Given the description of an element on the screen output the (x, y) to click on. 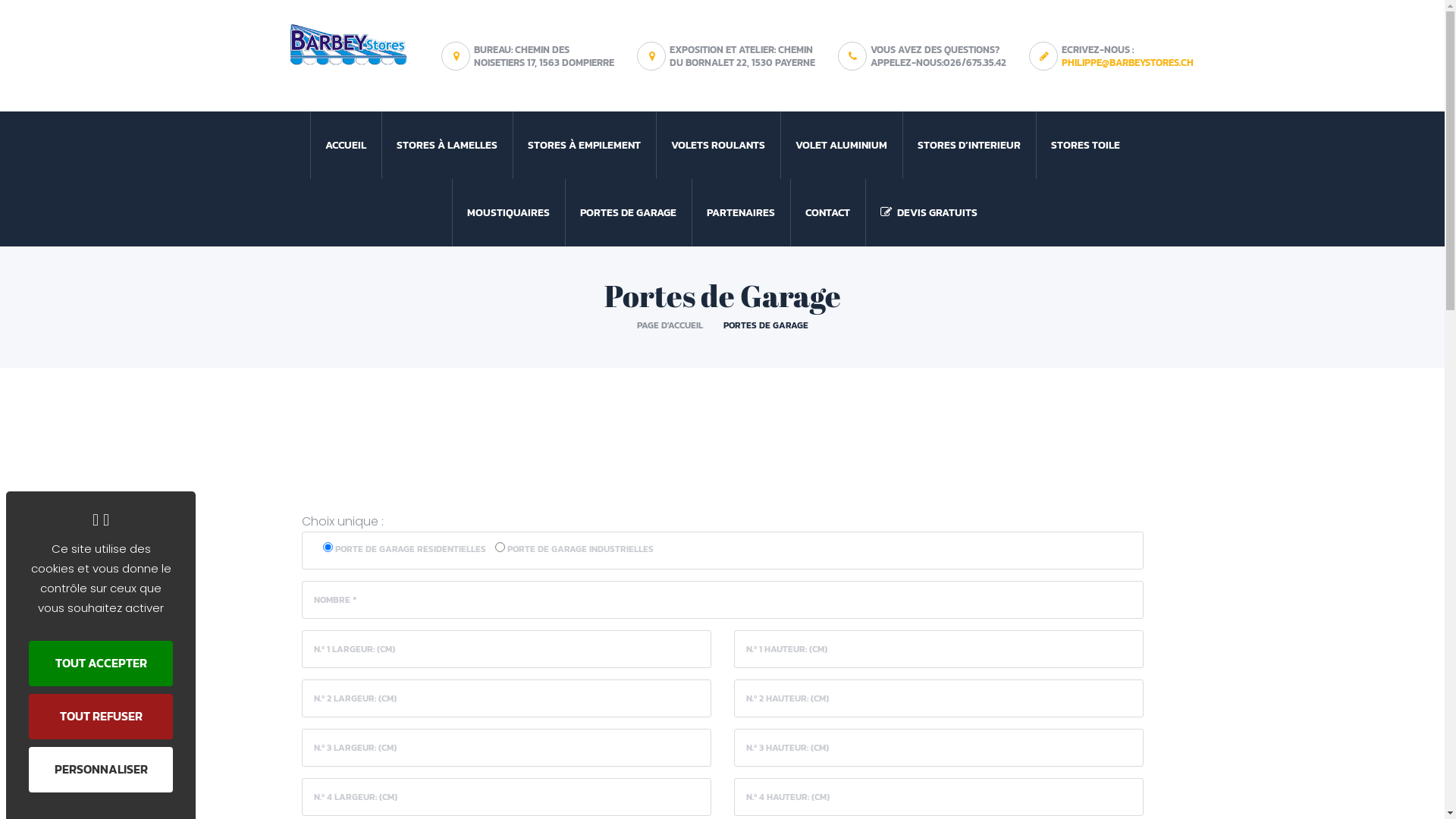
MOUSTIQUAIRES Element type: text (507, 212)
TOUT ACCEPTER Element type: text (100, 663)
DEVIS GRATUITS Element type: text (928, 212)
VOLET ALUMINIUM Element type: text (840, 144)
PERSONNALISER Element type: text (100, 769)
PAGE D'ACCUEIL Element type: text (669, 325)
PORTES DE GARAGE Element type: text (627, 212)
STORES TOILE Element type: text (1085, 144)
ACCUEIL Element type: text (344, 144)
PARTENAIRES Element type: text (740, 212)
VOLETS ROULANTS Element type: text (717, 144)
CONTACT Element type: text (827, 212)
TOUT REFUSER Element type: text (100, 716)
PHILIPPE@BARBEYSTORES.CH Element type: text (1127, 61)
